Given the description of an element on the screen output the (x, y) to click on. 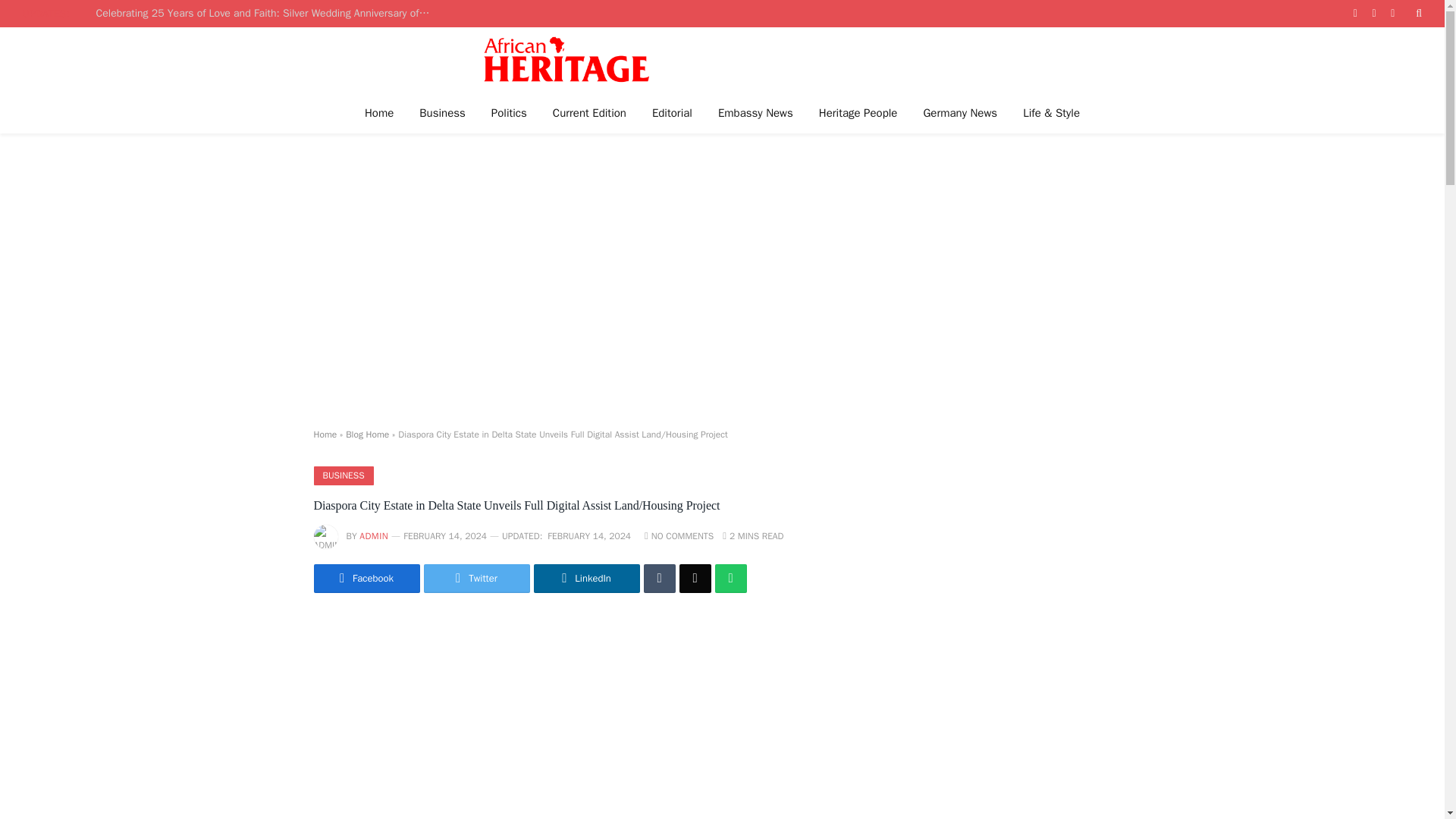
African Heritage Magazine (567, 59)
Posts by admin (373, 535)
